Given the description of an element on the screen output the (x, y) to click on. 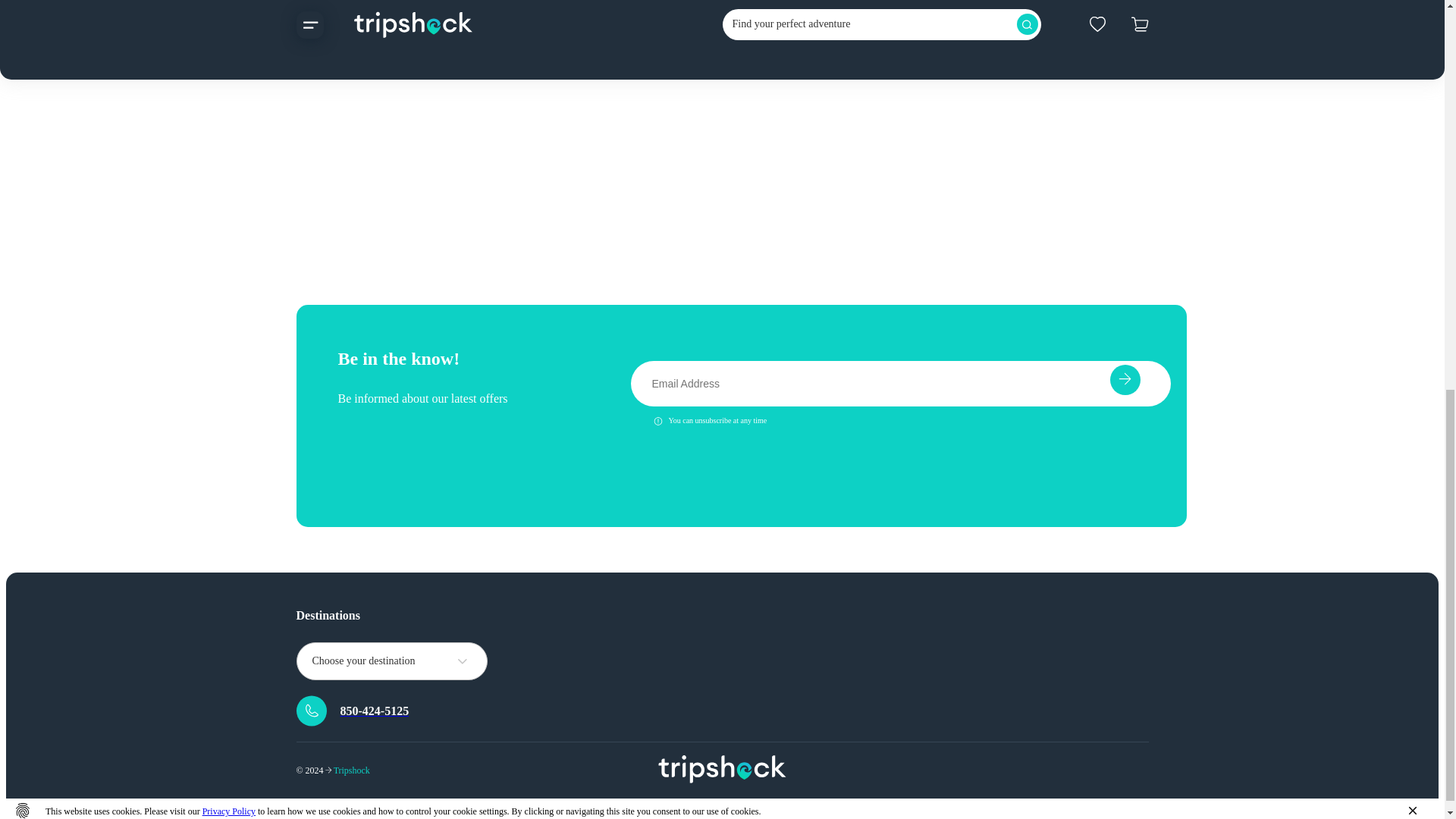
850-424-5125 (389, 710)
Privacy Policy (229, 810)
